Given the description of an element on the screen output the (x, y) to click on. 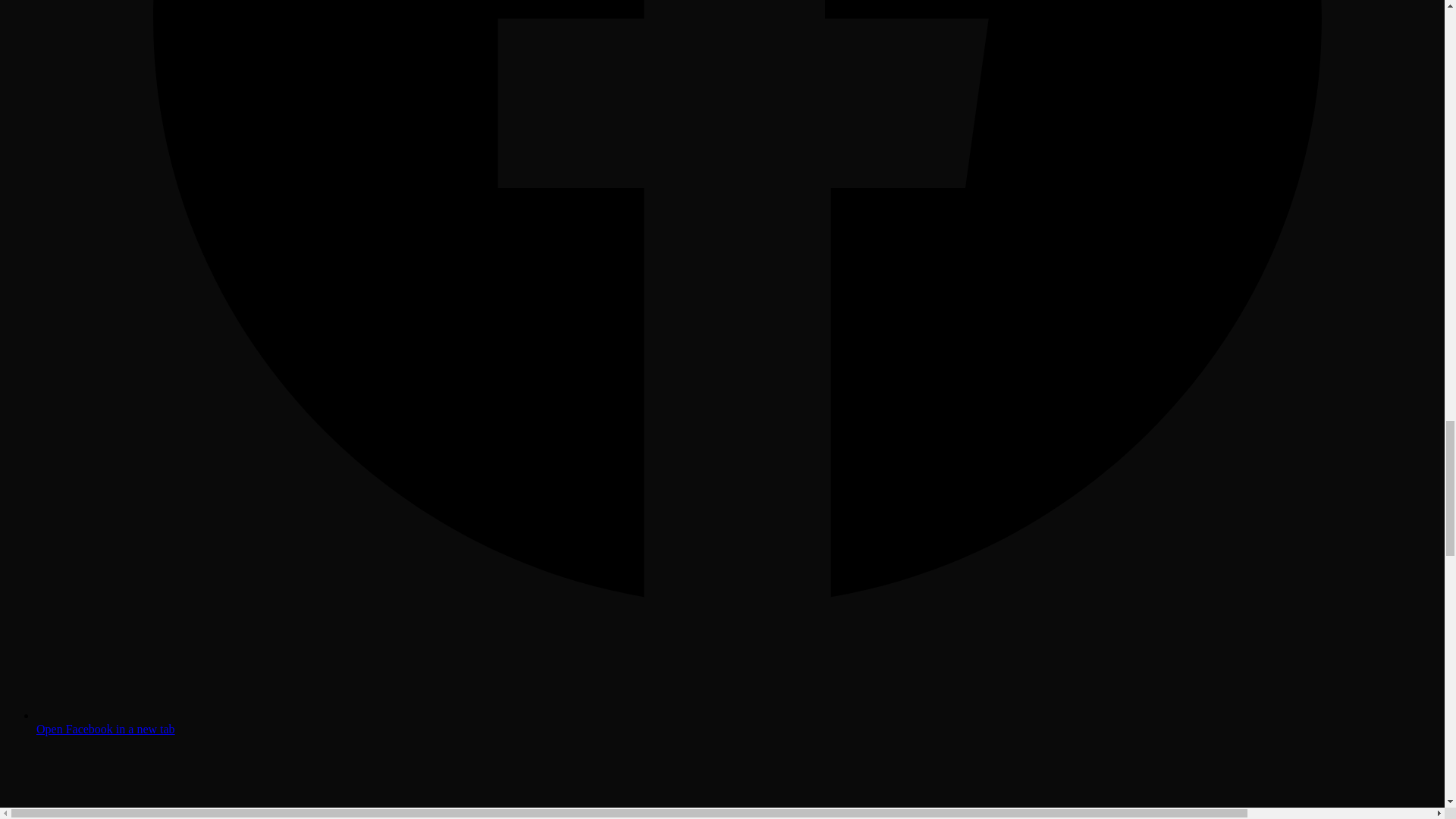
Open Facebook in a new tab (737, 722)
